Given the description of an element on the screen output the (x, y) to click on. 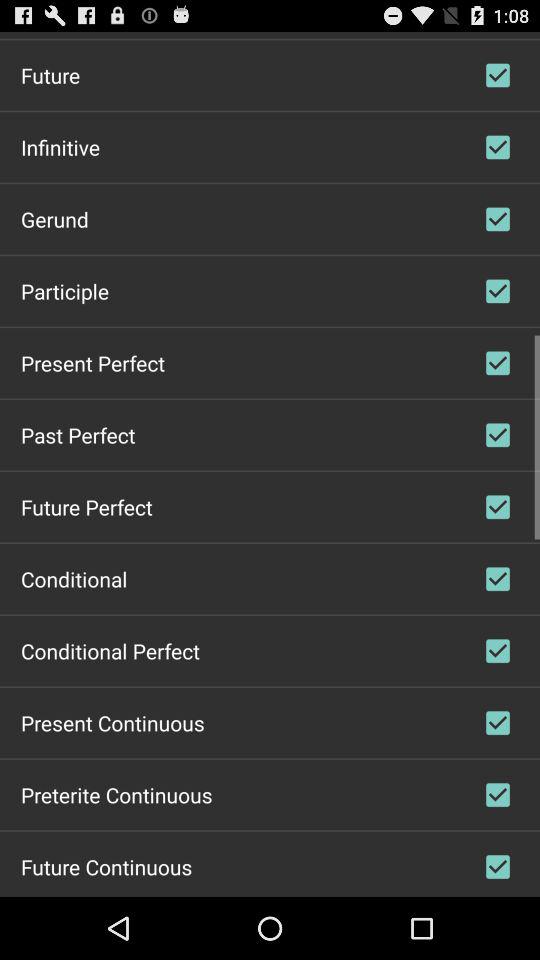
tap past perfect icon (78, 434)
